Given the description of an element on the screen output the (x, y) to click on. 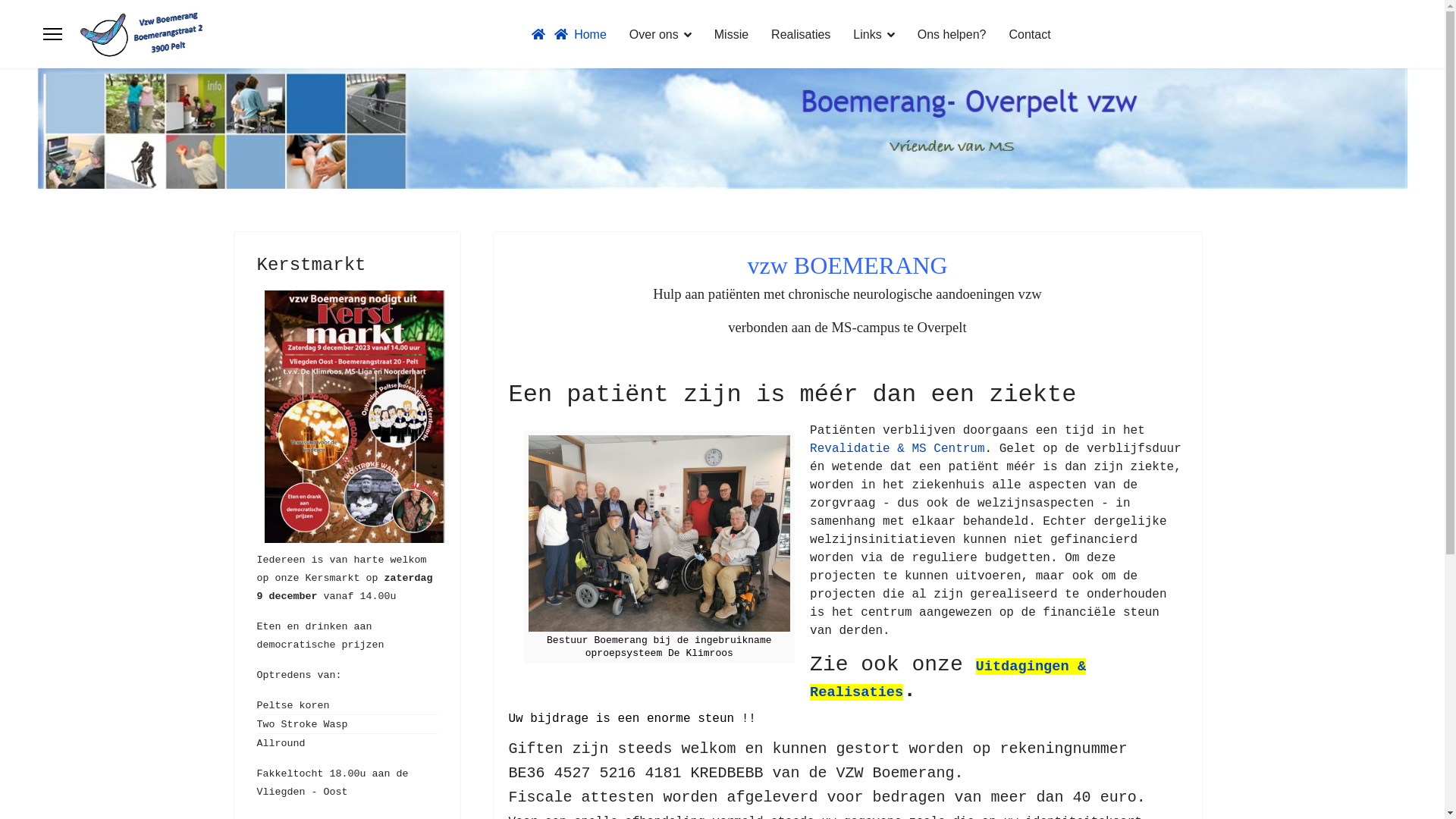
Realisaties Element type: text (800, 34)
Contact Element type: text (1023, 34)
Over ons Element type: text (660, 34)
Links Element type: text (873, 34)
Uitdagingen & Realisaties Element type: text (947, 679)
Menu Element type: hover (52, 34)
Revalidatie & MS Centrum Element type: text (896, 448)
Home Element type: text (569, 33)
Missie Element type: text (730, 34)
Ons helpen? Element type: text (951, 34)
